Given the description of an element on the screen output the (x, y) to click on. 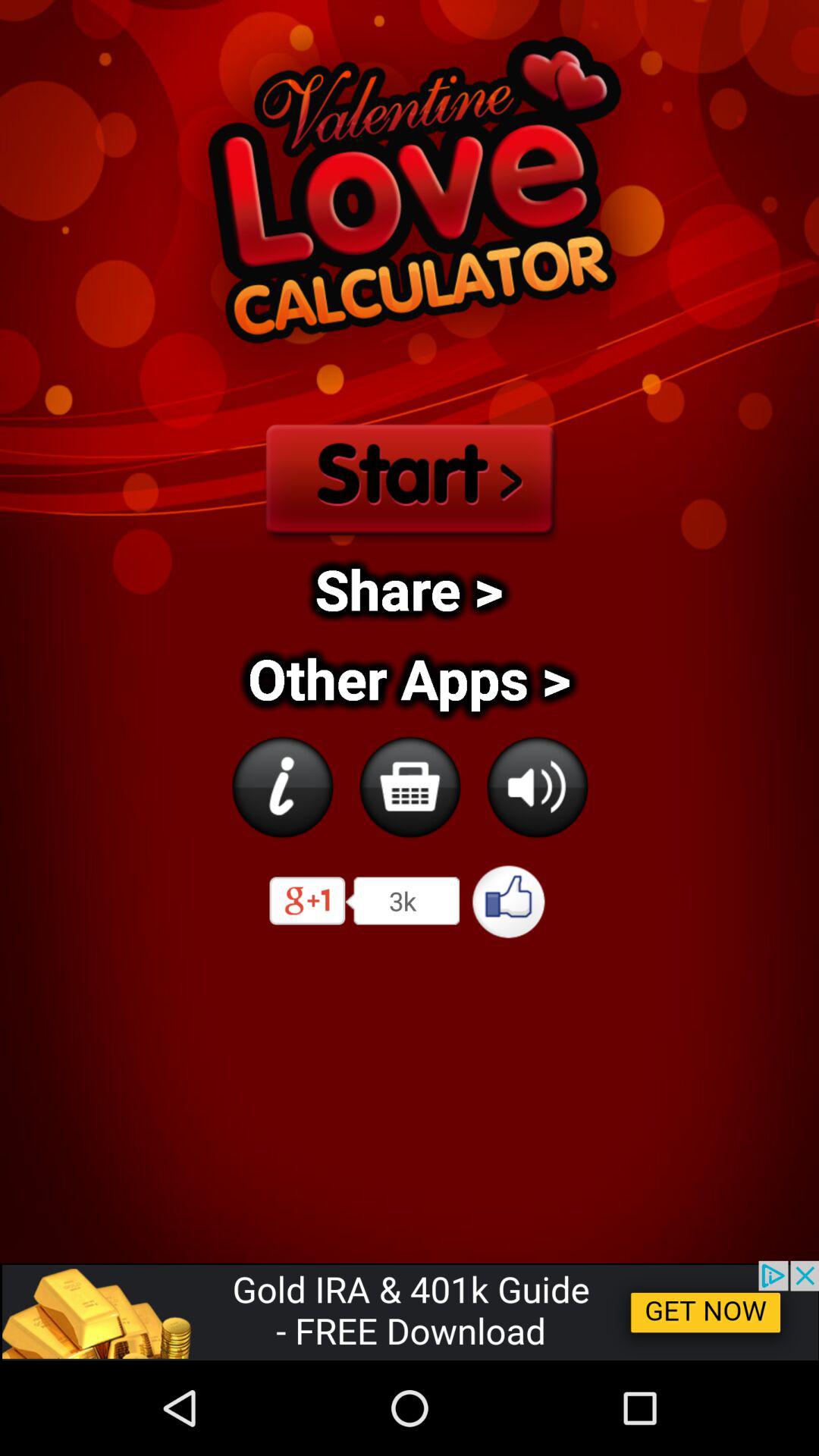
more information (281, 786)
